Given the description of an element on the screen output the (x, y) to click on. 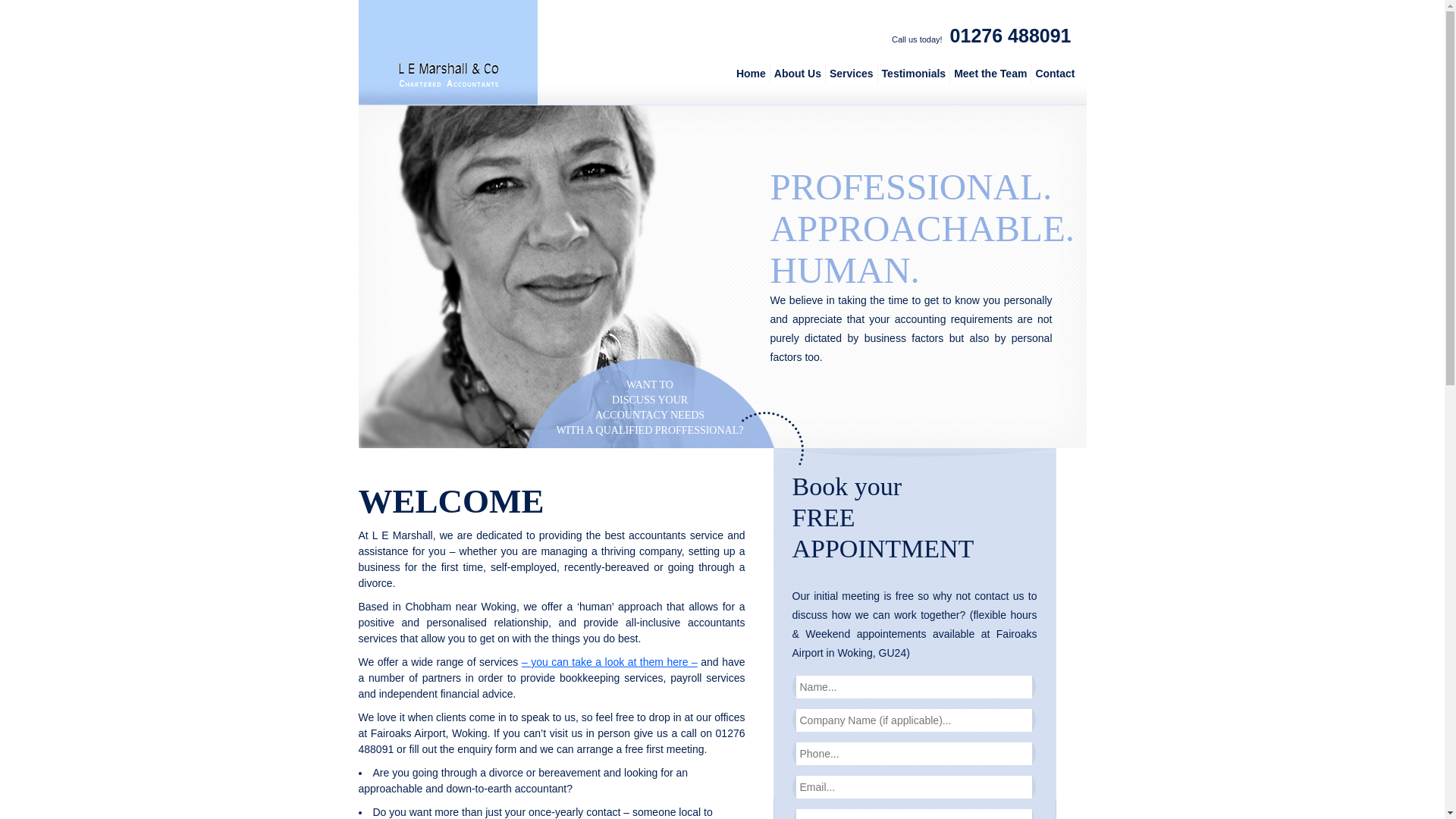
Testimonials (913, 73)
Services (851, 73)
About Us (797, 73)
Home (751, 73)
Contact (1054, 73)
Meet the Team (990, 73)
